Given the description of an element on the screen output the (x, y) to click on. 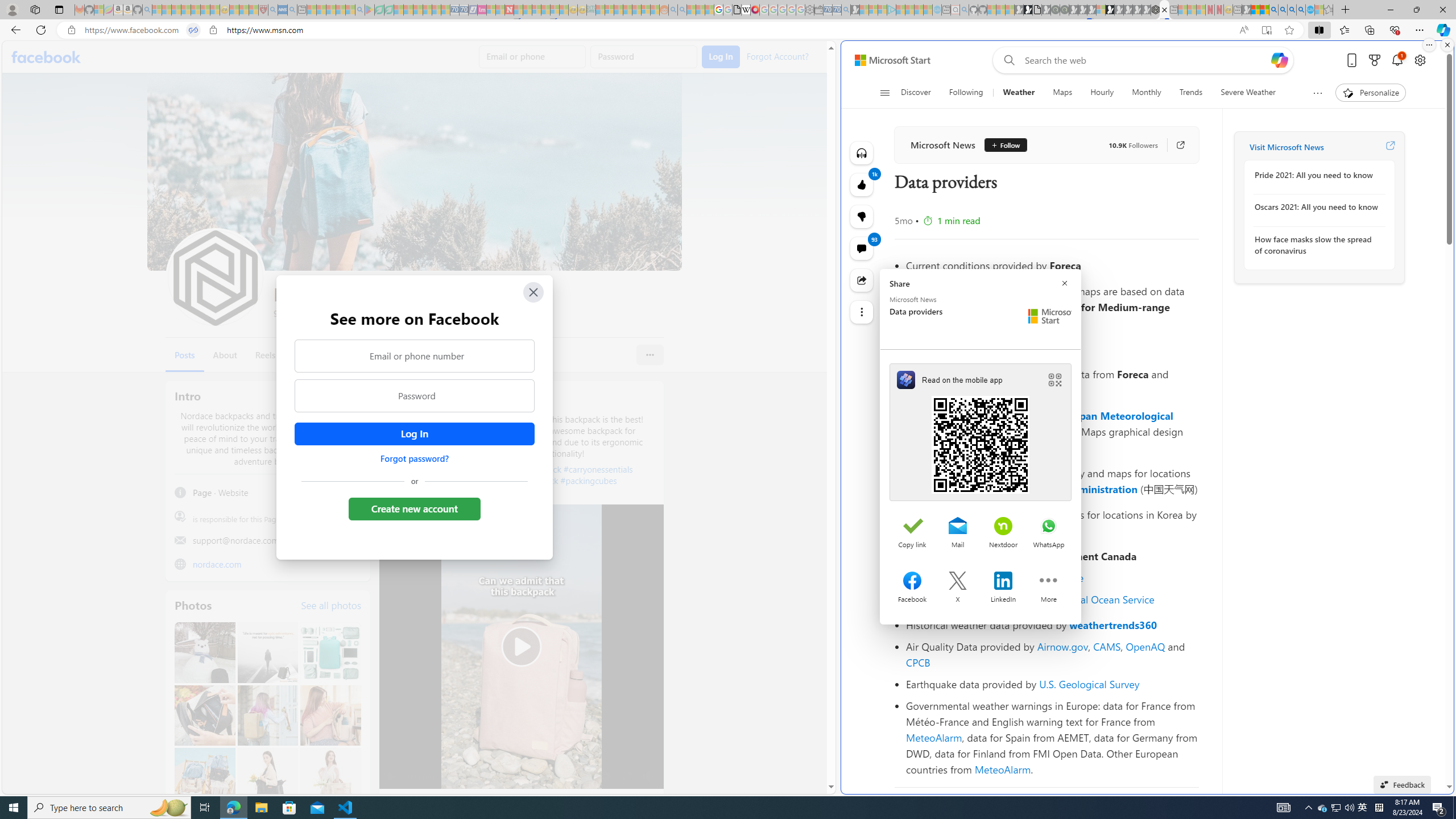
CAMS (1107, 646)
utah sues federal government - Search - Sleeping (291, 9)
Utah sues federal government - Search - Sleeping (681, 9)
Monthly (1146, 92)
OpenAQ (1144, 646)
Nowcast.de (1057, 577)
New Report Confirms 2023 Was Record Hot | Watch - Sleeping (195, 9)
Password (414, 395)
